Given the description of an element on the screen output the (x, y) to click on. 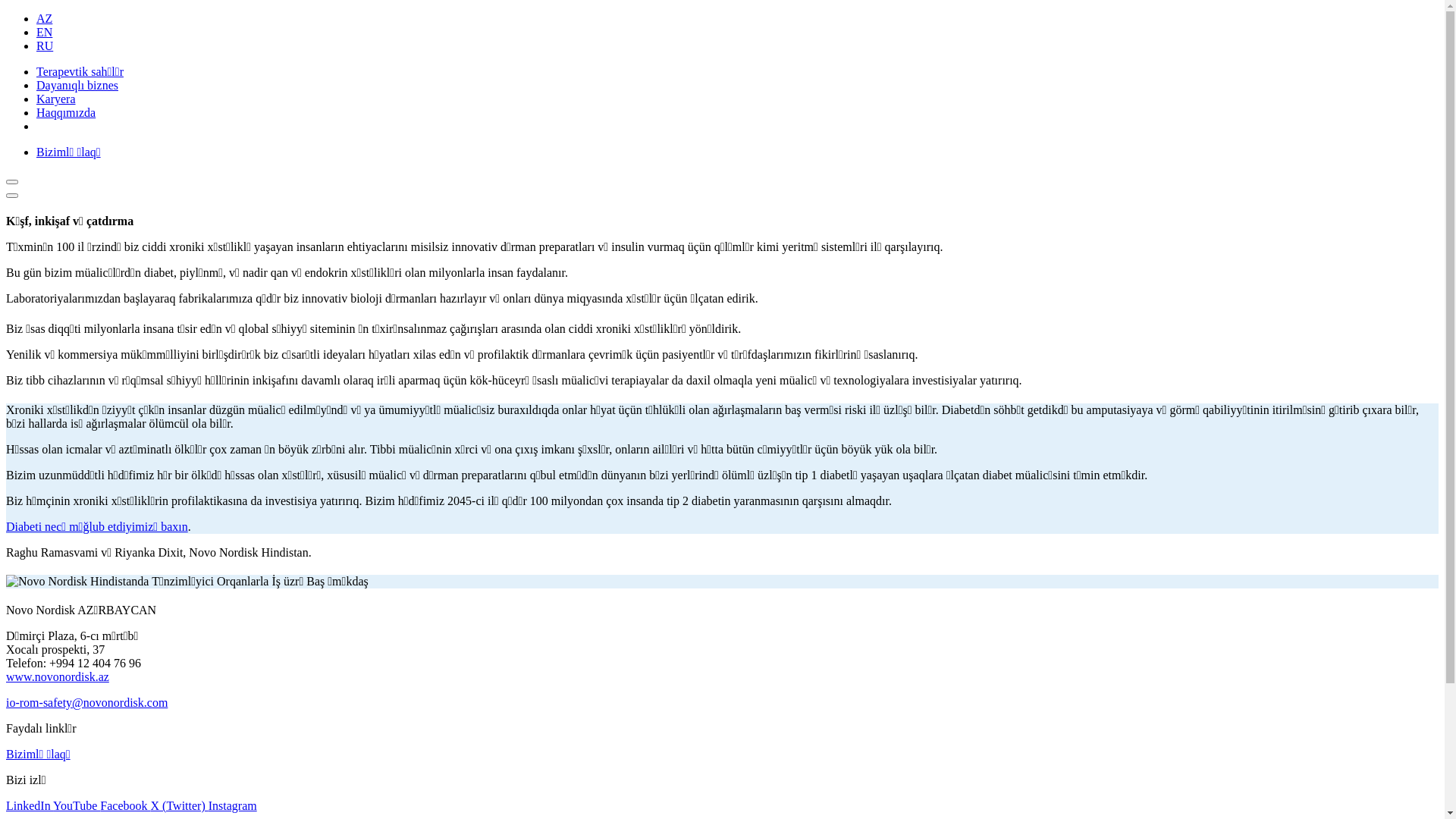
LinkedIn Element type: text (29, 805)
RU Element type: text (44, 45)
Instagram Element type: text (232, 805)
Facebook Element type: text (125, 805)
www.novonordisk.az Element type: text (57, 676)
EN Element type: text (44, 31)
io-rom-safety@novonordisk.com Element type: text (86, 702)
YouTube Element type: text (76, 805)
Karyera Element type: text (55, 98)
X (Twitter) Element type: text (179, 805)
AZ Element type: text (44, 18)
